Given the description of an element on the screen output the (x, y) to click on. 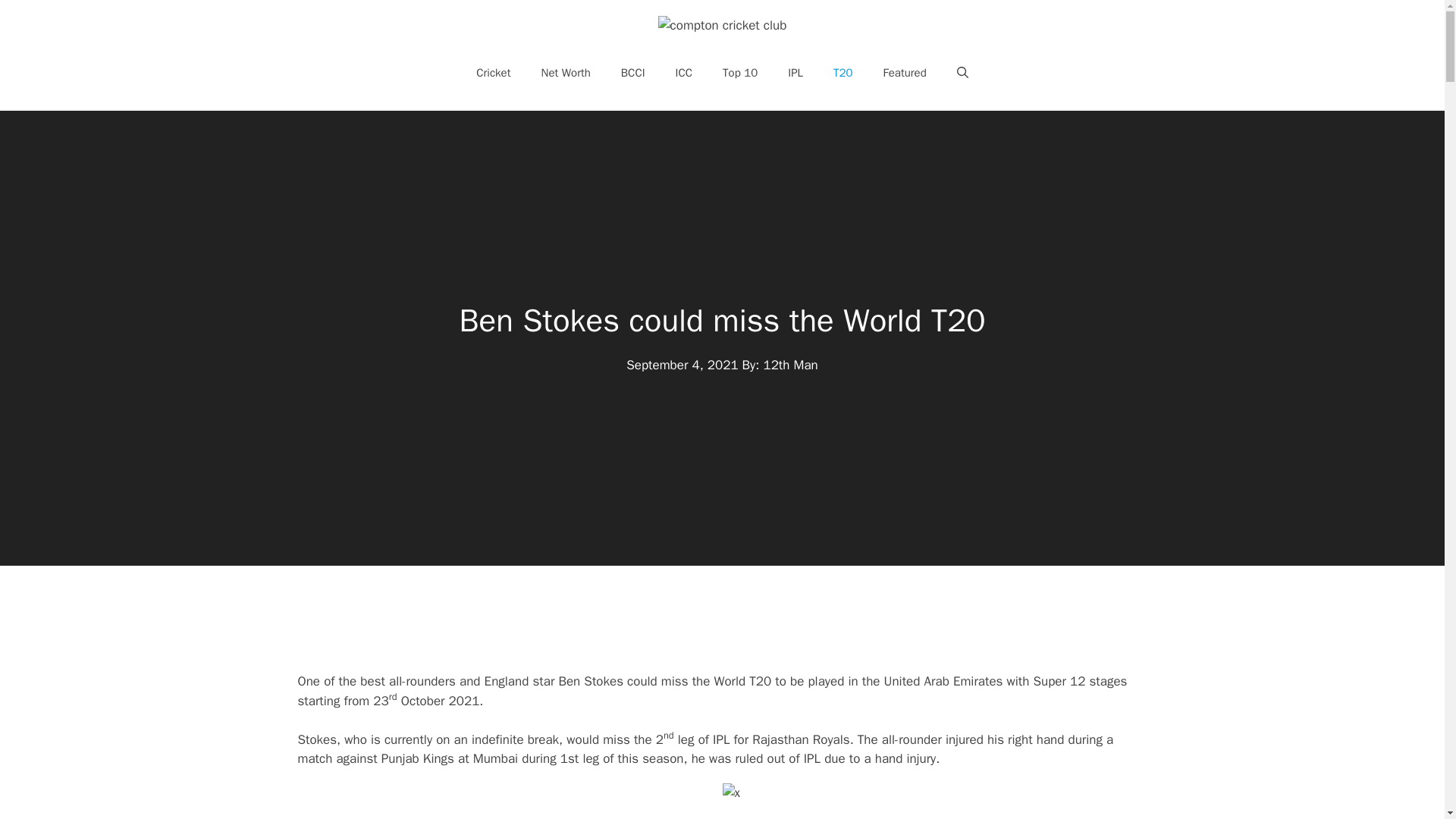
Featured (904, 72)
Cricket (493, 72)
Net Worth (565, 72)
T20 (842, 72)
IPL (795, 72)
ICC (684, 72)
Advertisement (752, 803)
Top 10 (740, 72)
BCCI (633, 72)
Ben Stokes could miss the World T20 (722, 320)
